Given the description of an element on the screen output the (x, y) to click on. 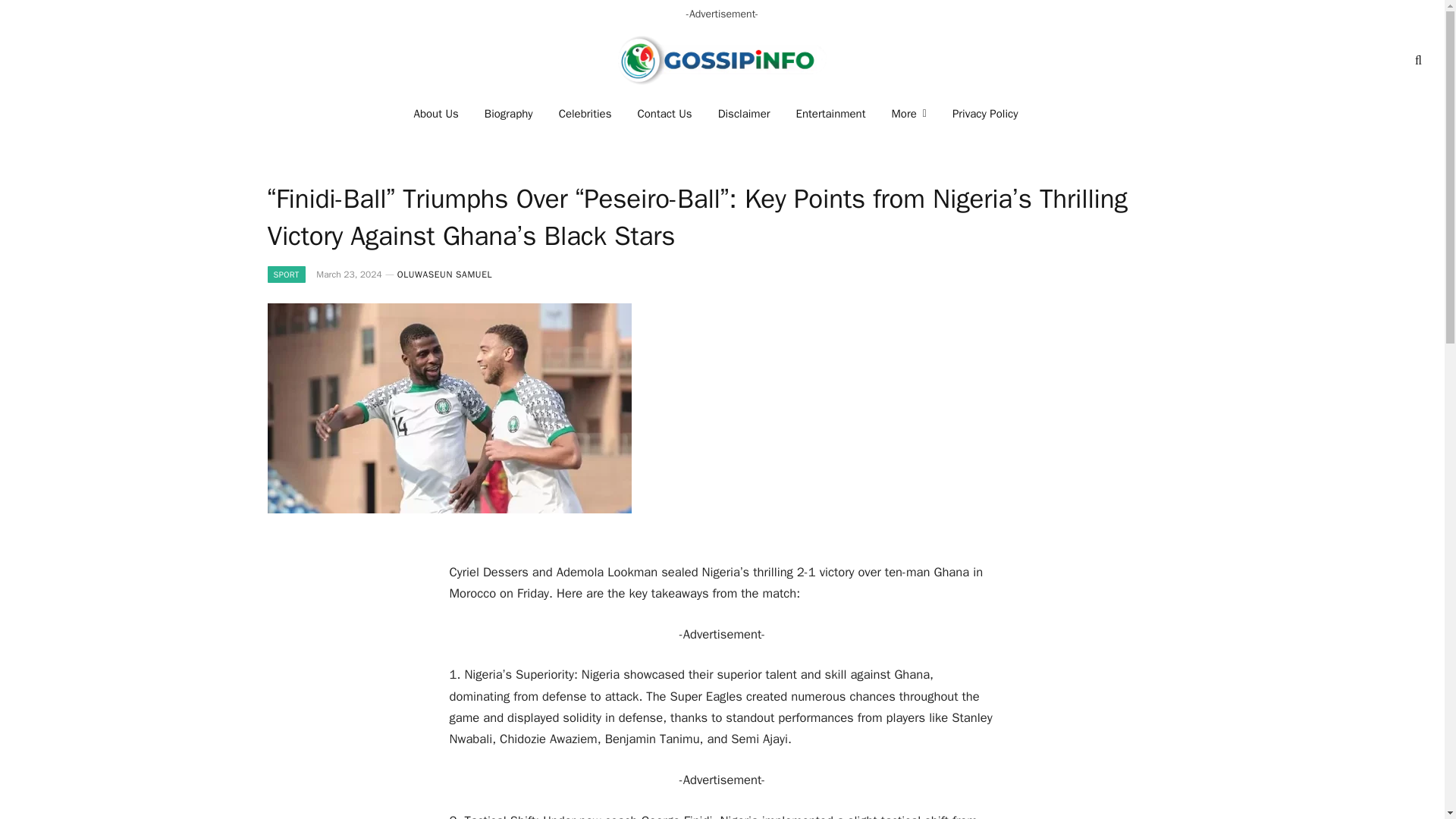
Biography (508, 113)
Entertainment (831, 113)
Posts by Oluwaseun samuel (444, 274)
More (908, 113)
SPORT (285, 274)
Disclaimer (743, 113)
Celebrities (585, 113)
OLUWASEUN SAMUEL (444, 274)
Gossipinfo (722, 59)
Privacy Policy (984, 113)
Contact Us (664, 113)
About Us (436, 113)
